Given the description of an element on the screen output the (x, y) to click on. 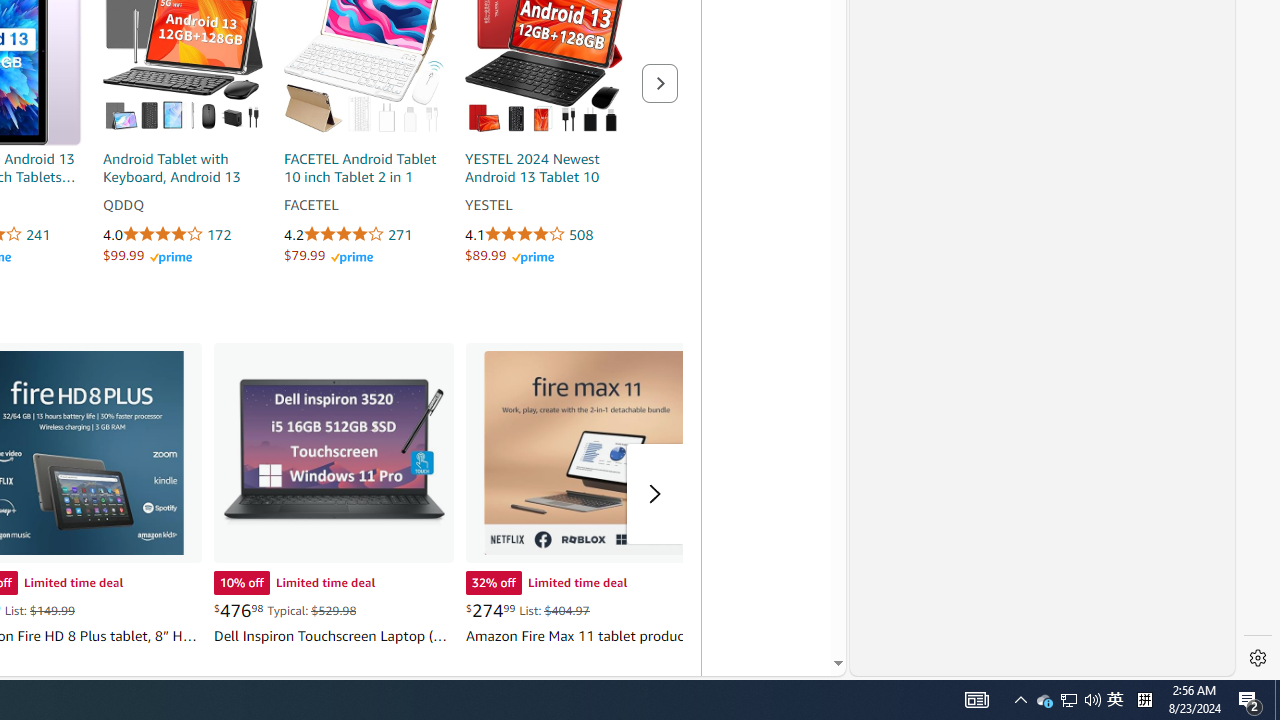
Next page of related Sponsored Products (660, 82)
QDDQ (182, 205)
$89.99 Amazon Prime (509, 255)
4.2 out of 5 stars 271 ratings (364, 235)
$79.99 Amazon Prime (328, 255)
$99.99 Amazon Prime (147, 255)
YESTEL (544, 205)
4.0 out of 5 stars 172 ratings (182, 235)
